Given the description of an element on the screen output the (x, y) to click on. 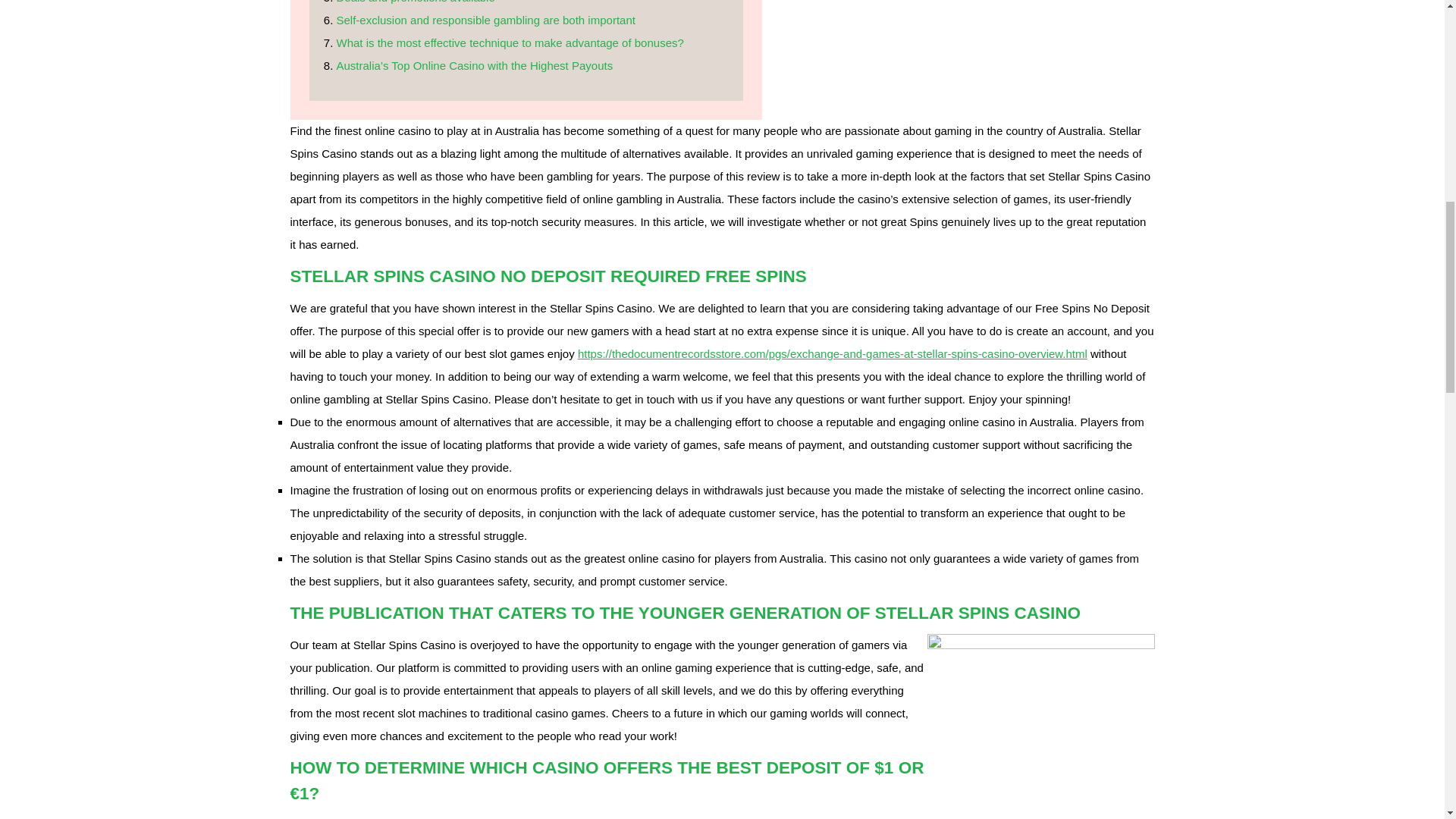
Self-exclusion and responsible gambling are both important (485, 19)
Deals and promotions available (415, 2)
